Given the description of an element on the screen output the (x, y) to click on. 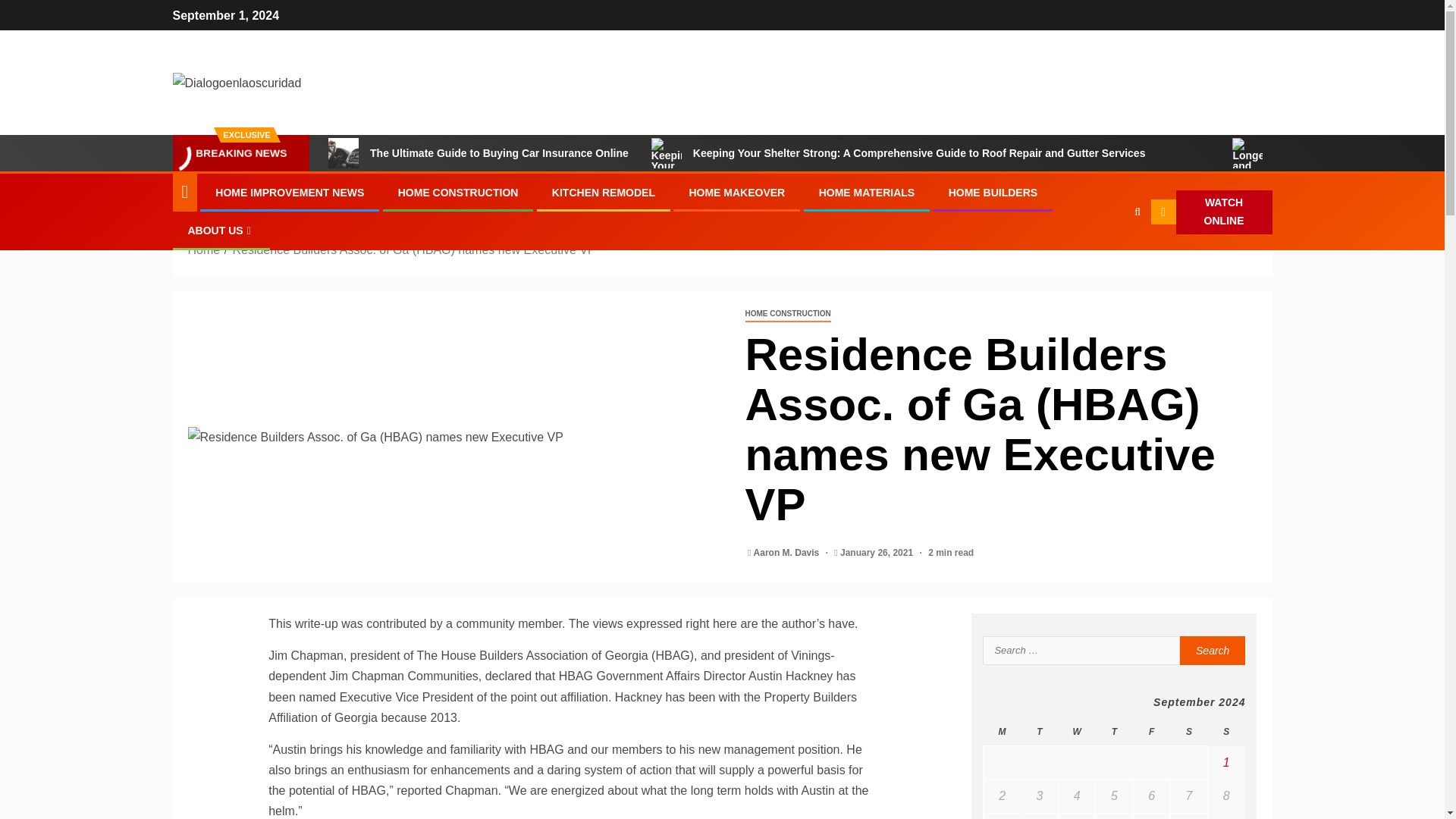
HOME MAKEOVER (736, 192)
Home (204, 249)
Friday (1151, 732)
ABOUT US (220, 230)
WATCH ONLINE (1211, 212)
Monday (1002, 732)
HOME MATERIALS (866, 192)
Thursday (1114, 732)
Search (1212, 650)
